Given the description of an element on the screen output the (x, y) to click on. 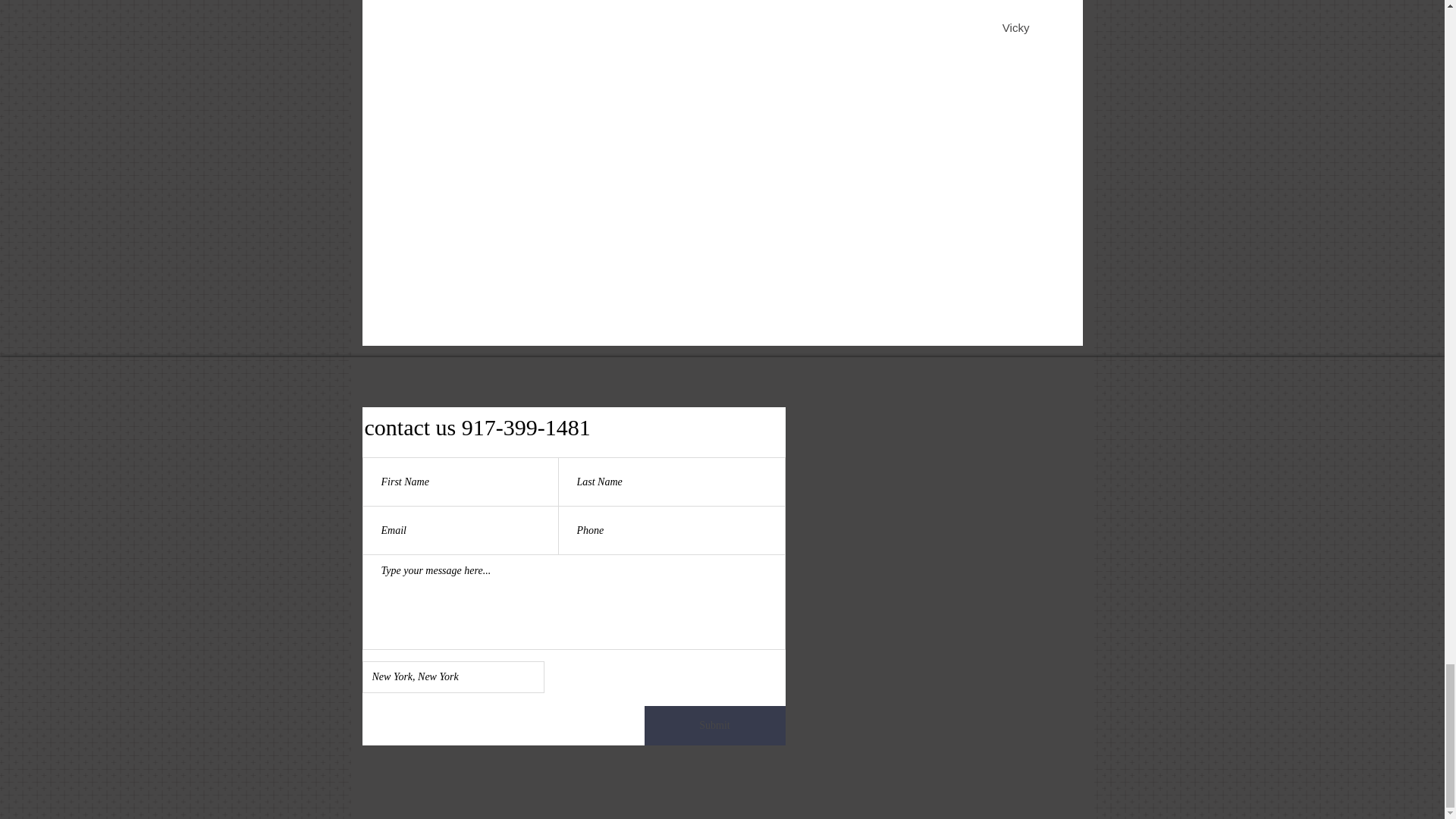
Submit (715, 725)
